Given the description of an element on the screen output the (x, y) to click on. 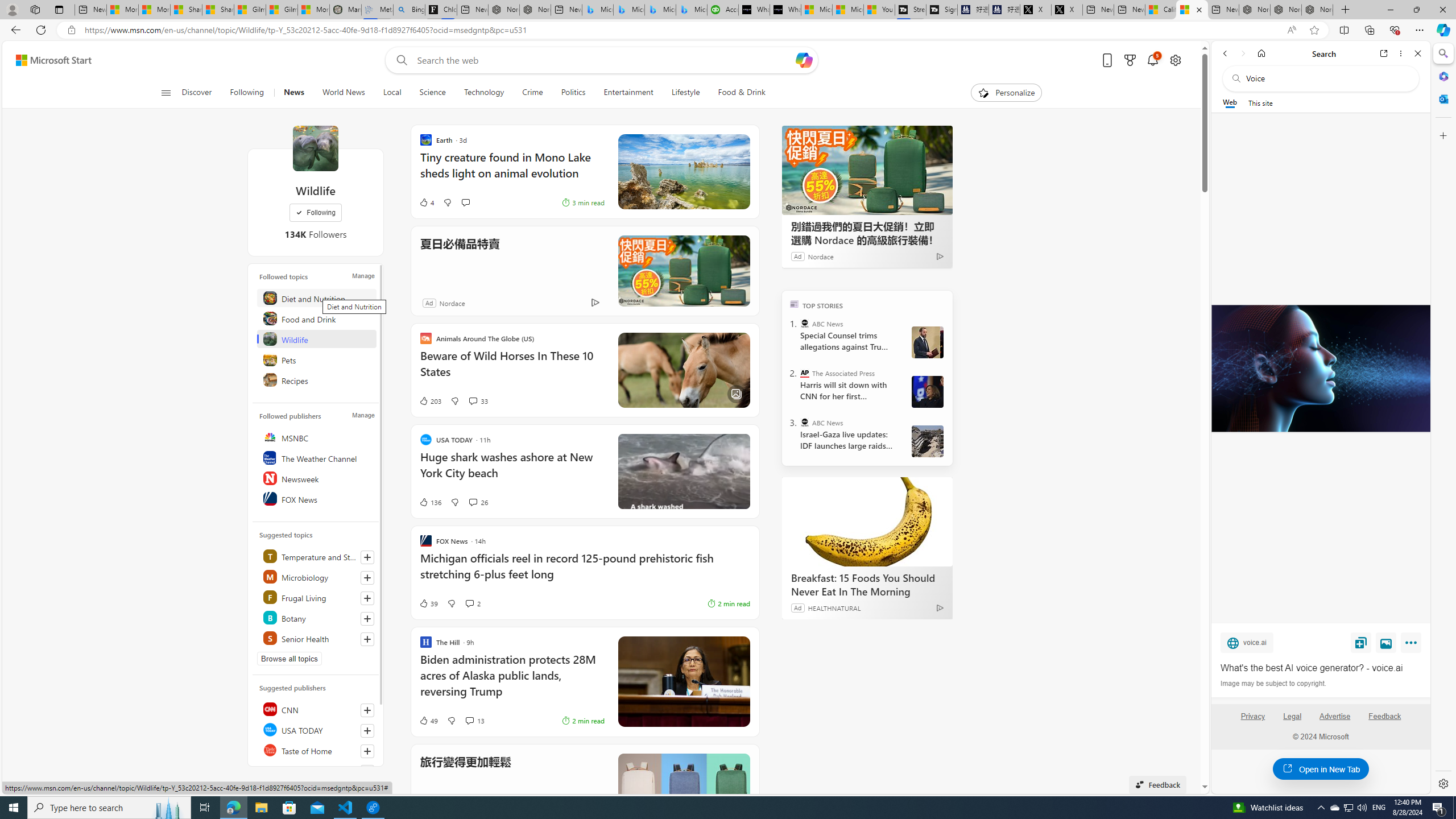
Class: hero-image (683, 471)
Food & Drink (741, 92)
Streaming Coverage | T3 (909, 9)
FOX News (317, 498)
Wildlife (317, 339)
HEALTHNATURAL (834, 607)
View comments 2 Comment (472, 603)
Advertise (1335, 715)
The Weather Channel (317, 457)
Technology (483, 92)
MSNBC (317, 437)
Entertainment (627, 92)
